Given the description of an element on the screen output the (x, y) to click on. 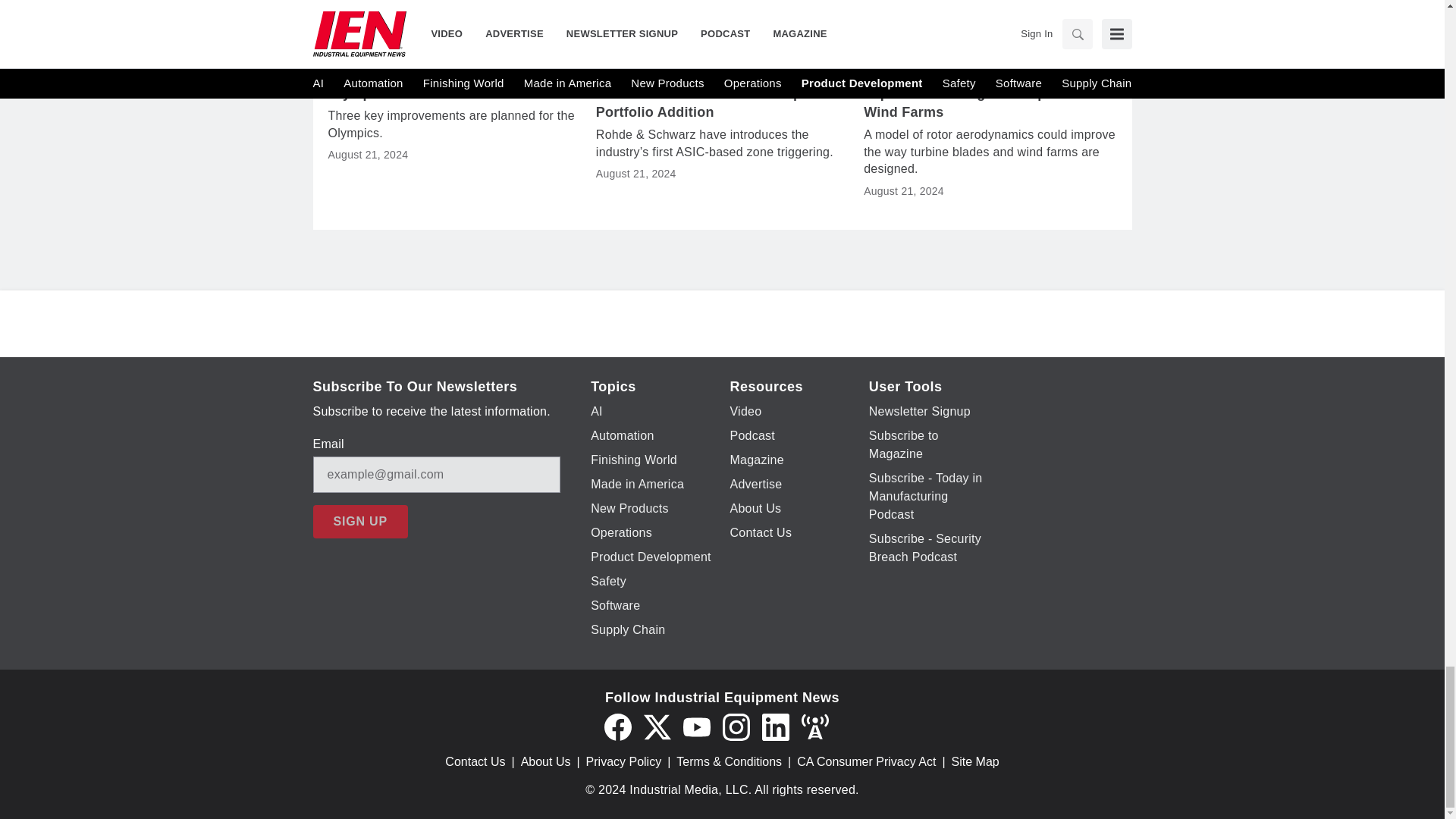
Instagram icon (735, 727)
LinkedIn icon (775, 727)
Twitter X icon (656, 727)
Facebook icon (617, 727)
YouTube icon (696, 727)
